Given the description of an element on the screen output the (x, y) to click on. 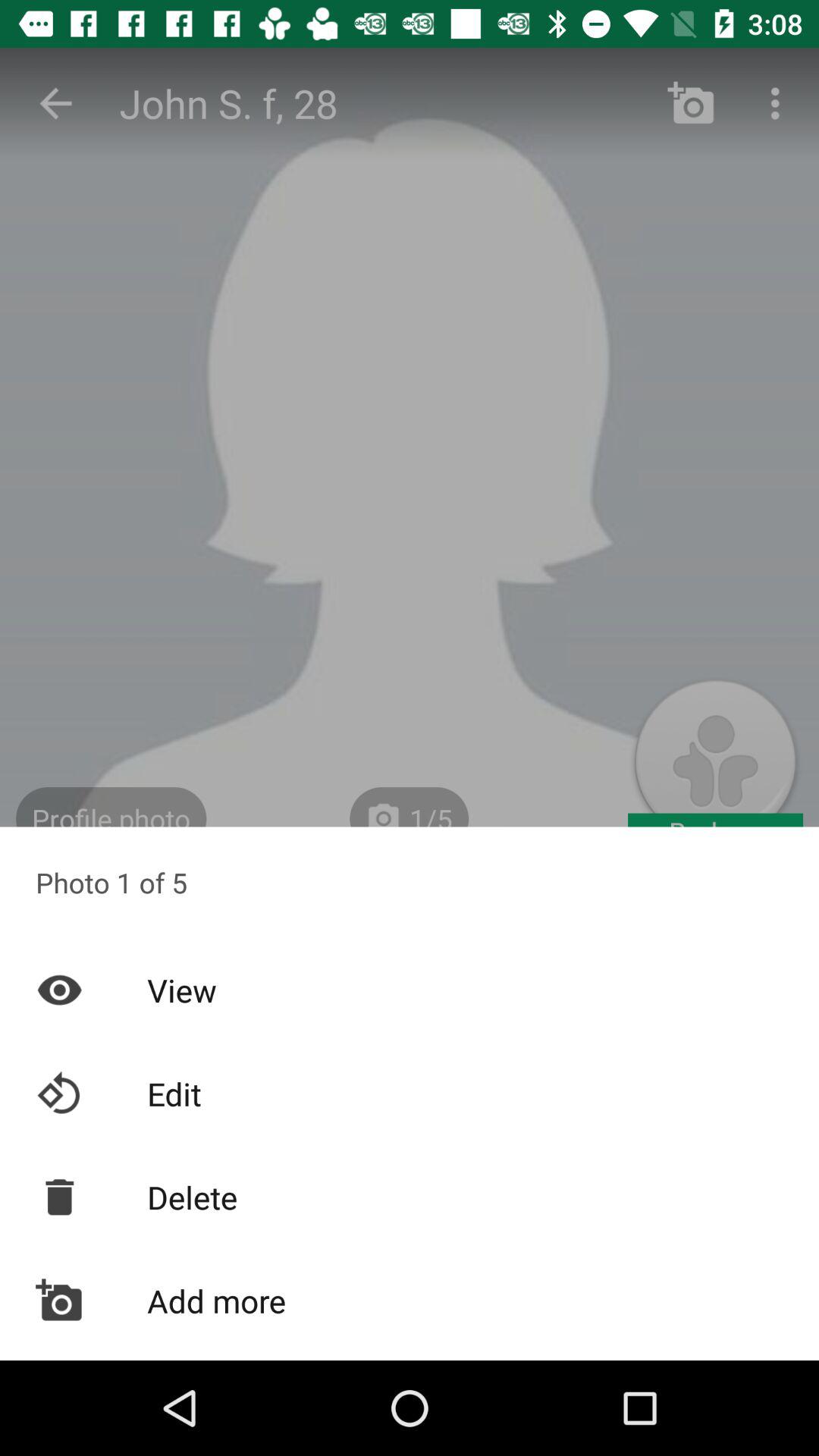
tap the item below photo 1 of item (409, 989)
